Given the description of an element on the screen output the (x, y) to click on. 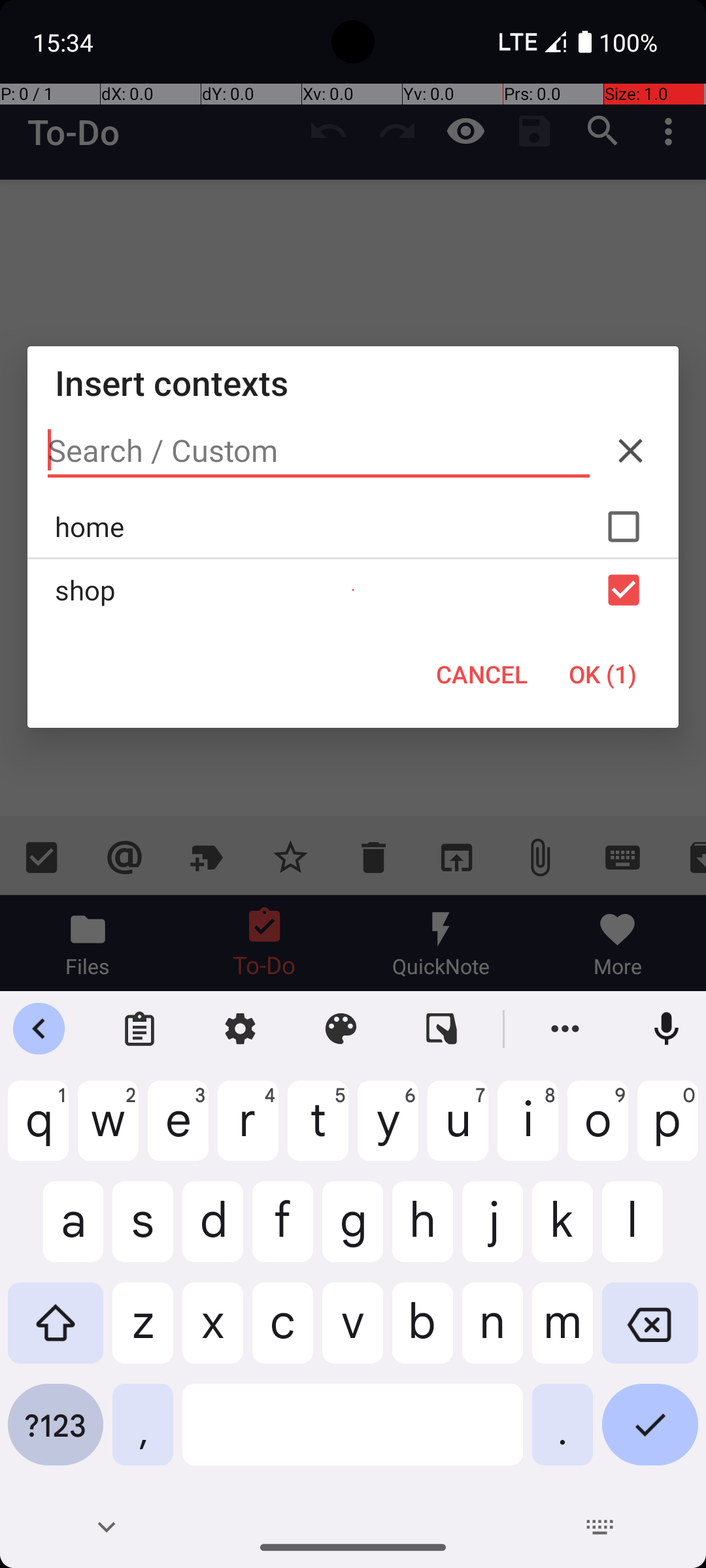
Insert contexts Element type: android.widget.TextView (352, 382)
Search / Custom Element type: android.widget.EditText (318, 450)
home Element type: android.widget.CheckedTextView (352, 526)
shop Element type: android.widget.CheckedTextView (352, 589)
OK (1) Element type: android.widget.Button (602, 673)
